Given the description of an element on the screen output the (x, y) to click on. 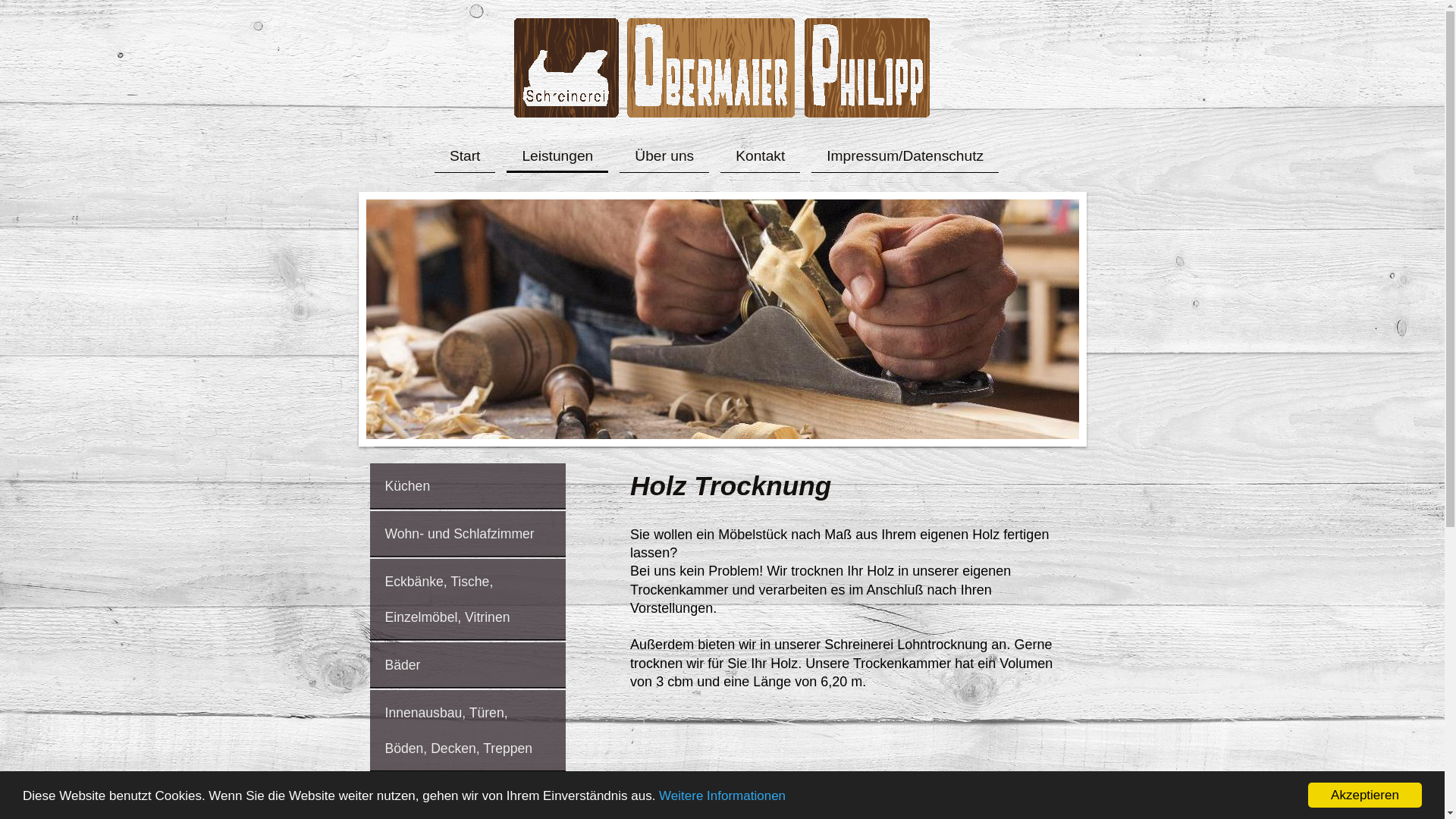
Start Element type: text (464, 155)
Impressum/Datenschutz Element type: text (904, 155)
Weitere Informationen Element type: text (721, 795)
Kontakt Element type: text (760, 155)
Wohn- und Schlafzimmer Element type: text (468, 534)
Leistungen Element type: text (557, 155)
Akzeptieren Element type: text (1364, 794)
